Given the description of an element on the screen output the (x, y) to click on. 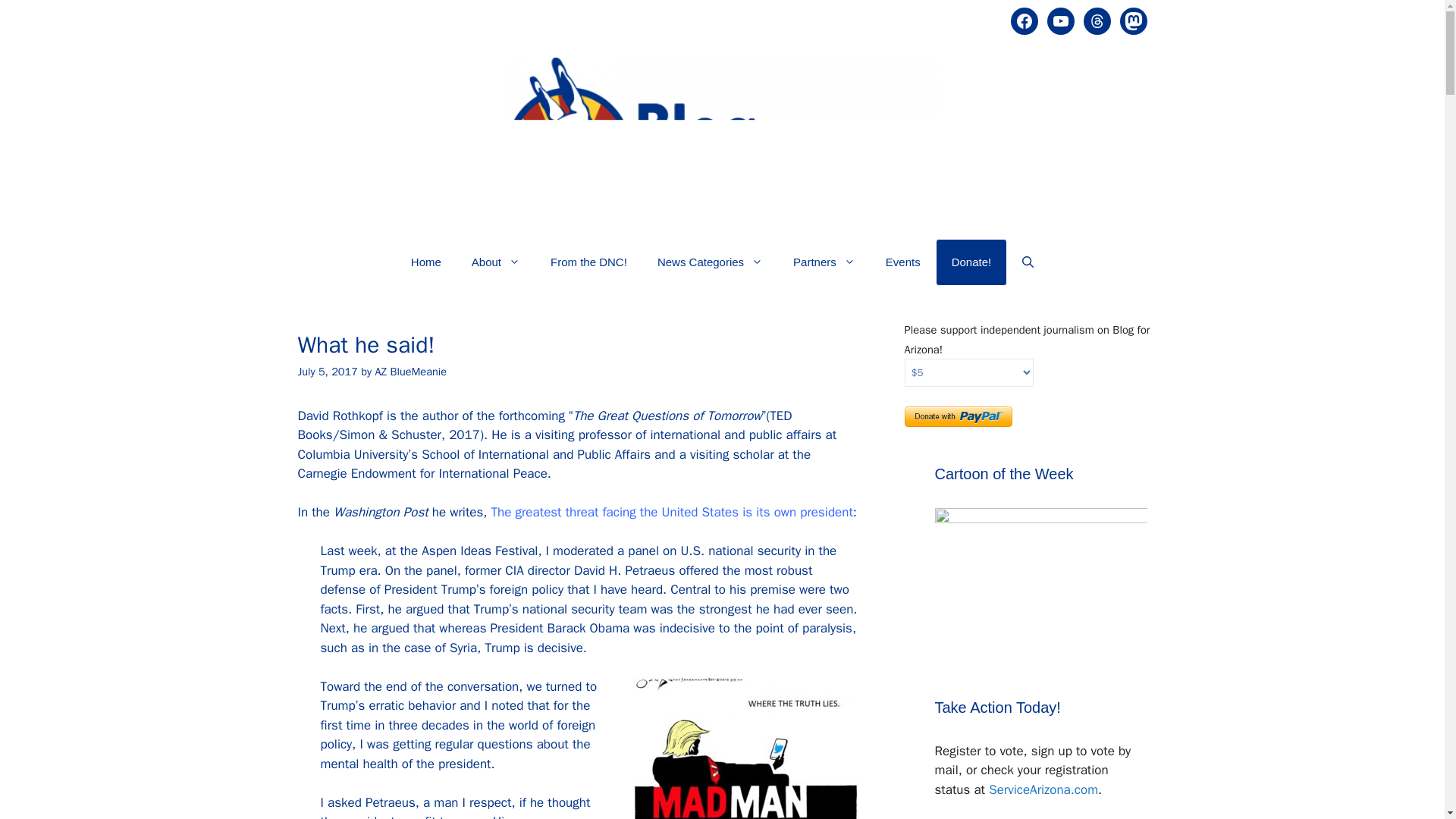
Mastodon (1133, 21)
Donate! (971, 262)
AZ BlueMeanie (410, 371)
Partners (823, 262)
Events (903, 262)
About (496, 262)
YouTube (1060, 21)
News Categories (709, 262)
View all posts by AZ BlueMeanie (410, 371)
Facebook (1023, 21)
